Given the description of an element on the screen output the (x, y) to click on. 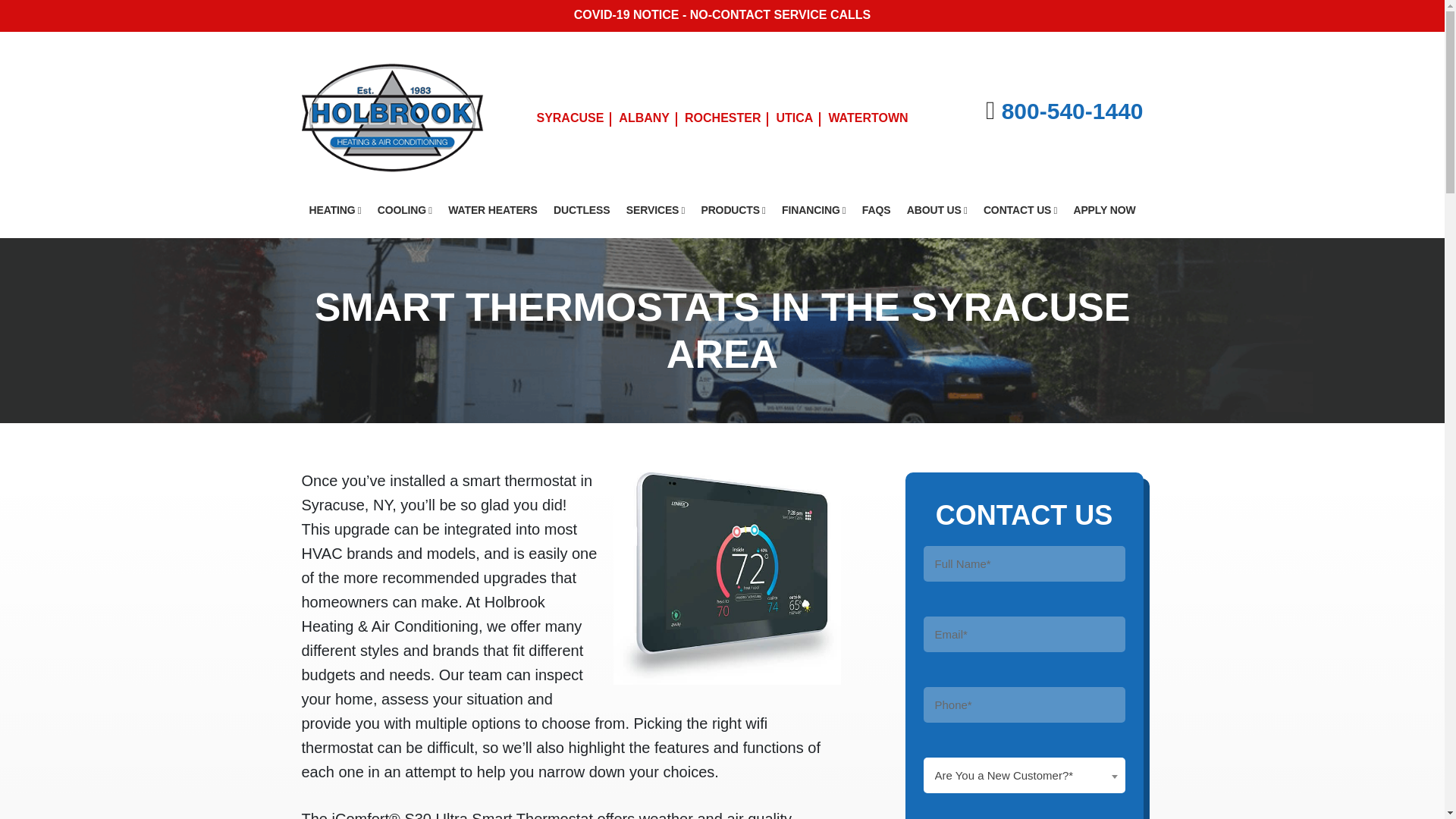
WATERTOWN (868, 118)
ALBANY (644, 118)
DUCTLESS (581, 209)
COOLING (404, 209)
ROCHESTER (722, 118)
SYRACUSE (569, 118)
SERVICES (655, 209)
HEATING (335, 209)
WATER HEATERS (492, 209)
UTICA (794, 118)
800-540-1440 (1071, 110)
